Given the description of an element on the screen output the (x, y) to click on. 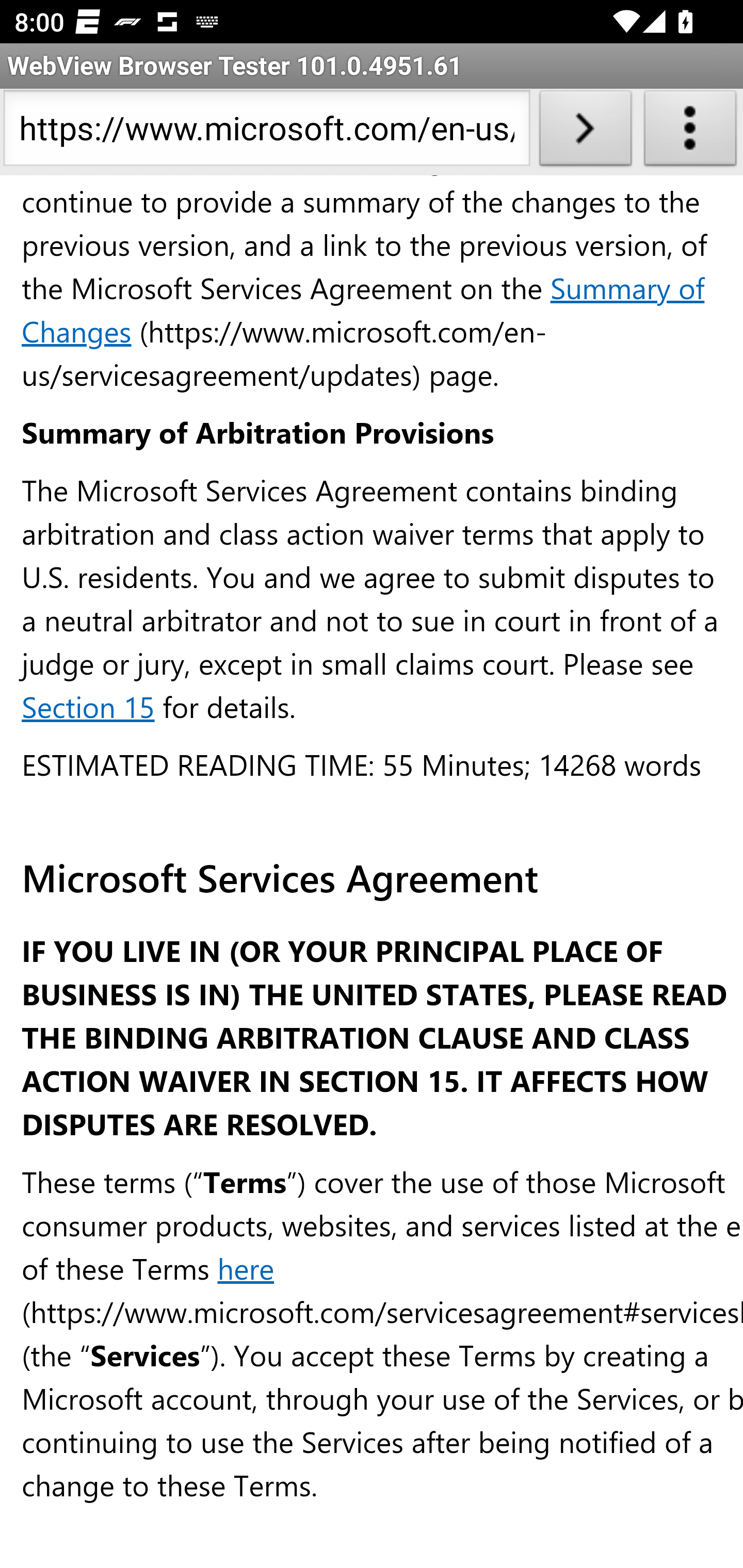
https://www.microsoft.com/en-us/servicesagreement (266, 132)
Load URL (585, 132)
About WebView (690, 132)
Summary of Changes (363, 310)
Section 15 (88, 707)
here (245, 1268)
